Given the description of an element on the screen output the (x, y) to click on. 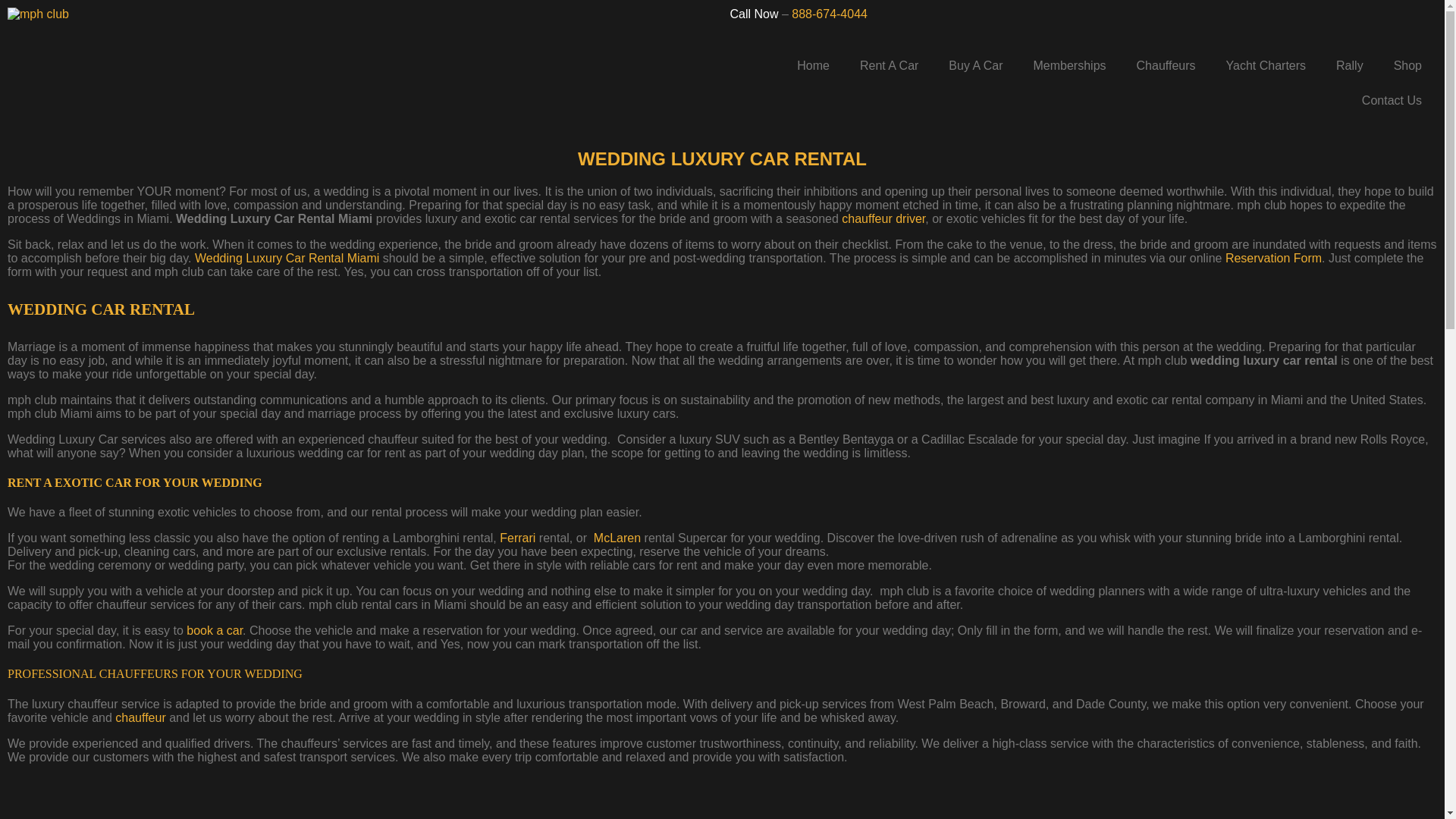
Rally (1349, 65)
Home (812, 65)
Rent A Car (888, 65)
Chauffeurs (1166, 65)
Buy A Car (975, 65)
McLaren (617, 537)
book a car (214, 630)
Shop (1407, 65)
888-674-4044 (829, 13)
Memberships (1069, 65)
